Given the description of an element on the screen output the (x, y) to click on. 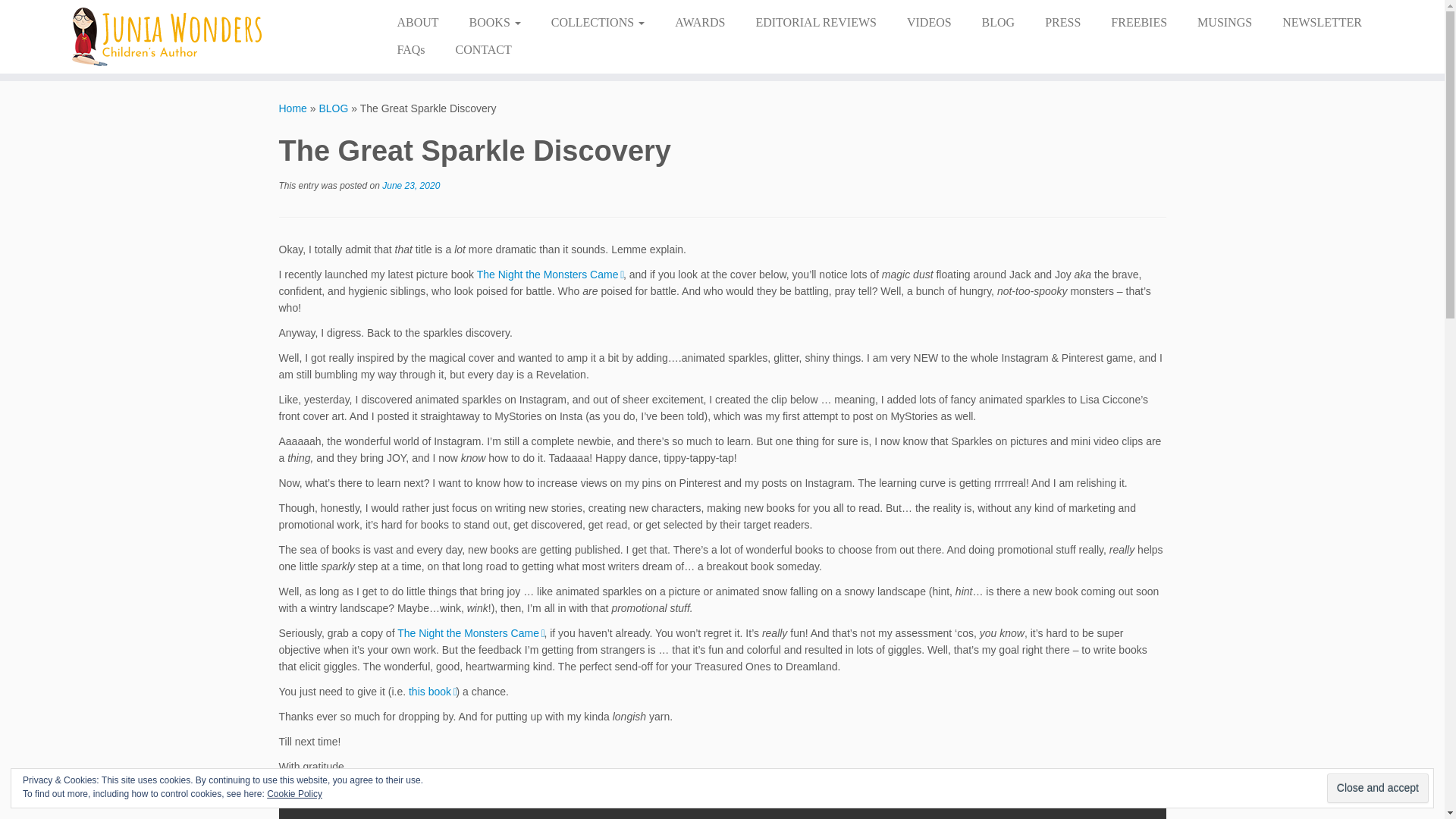
VIDEOS (928, 22)
this book (433, 691)
PRESS (1062, 22)
June 23, 2020 (410, 185)
AWARDS (699, 22)
NEWSLETTER (1321, 22)
FAQs (410, 49)
BLOG (998, 22)
BOOKS (494, 22)
COLLECTIONS (597, 22)
The Night the Monsters Came (550, 274)
FREEBIES (1139, 22)
Home (293, 108)
2:05 pm (410, 185)
Close and accept (1377, 788)
